Given the description of an element on the screen output the (x, y) to click on. 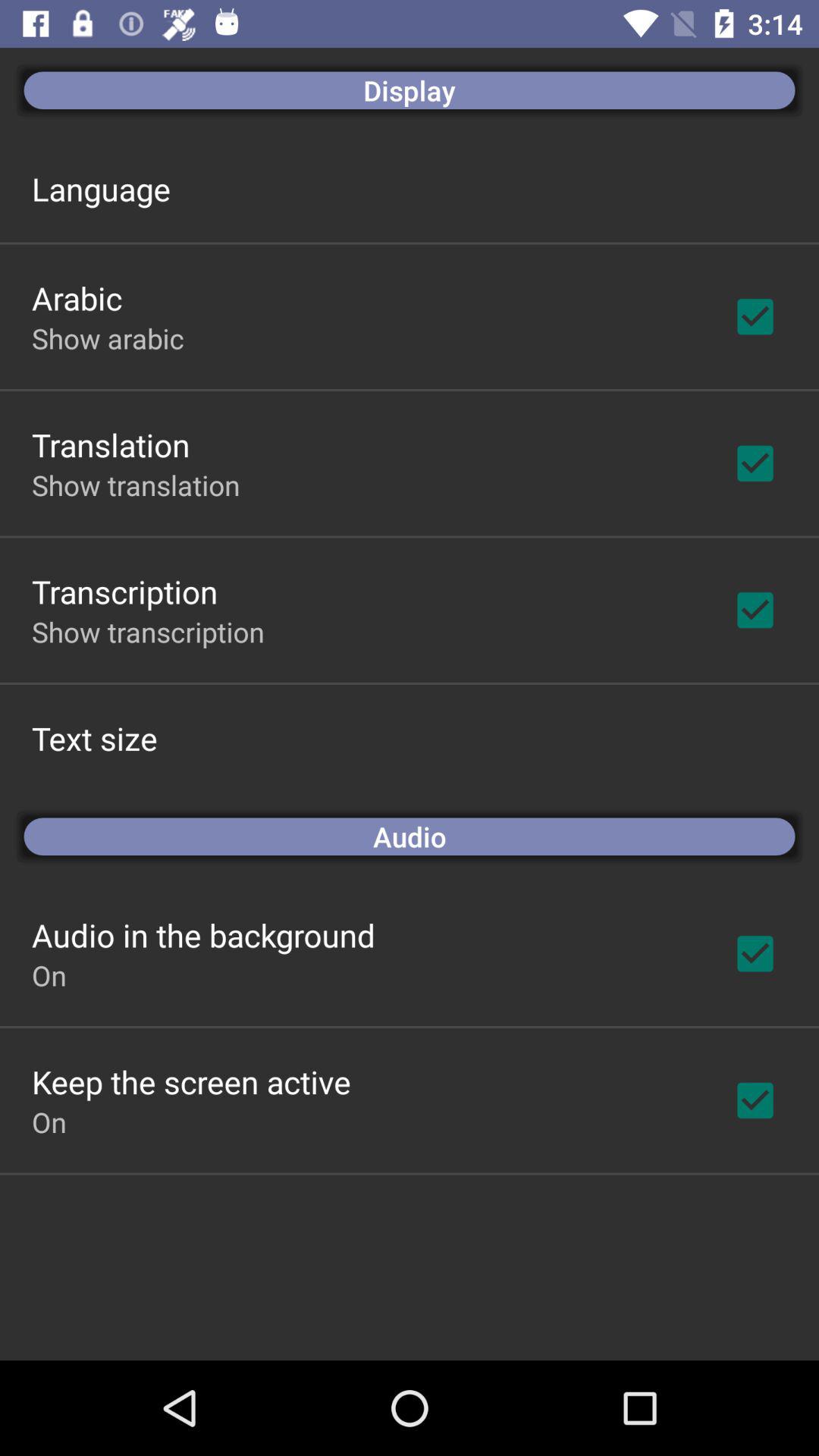
tap language (100, 188)
